Given the description of an element on the screen output the (x, y) to click on. 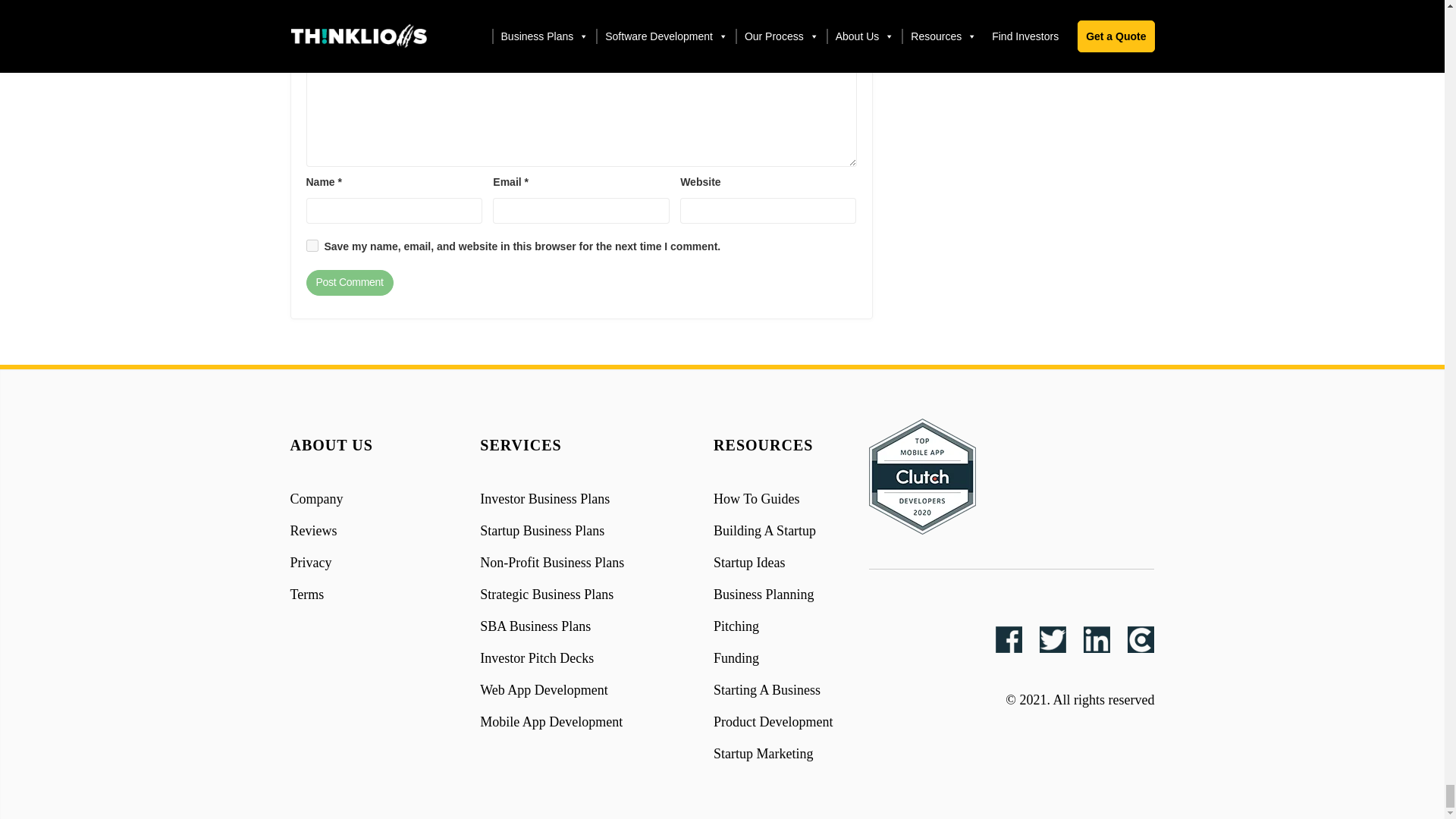
yes (311, 245)
Post Comment (349, 282)
